Given the description of an element on the screen output the (x, y) to click on. 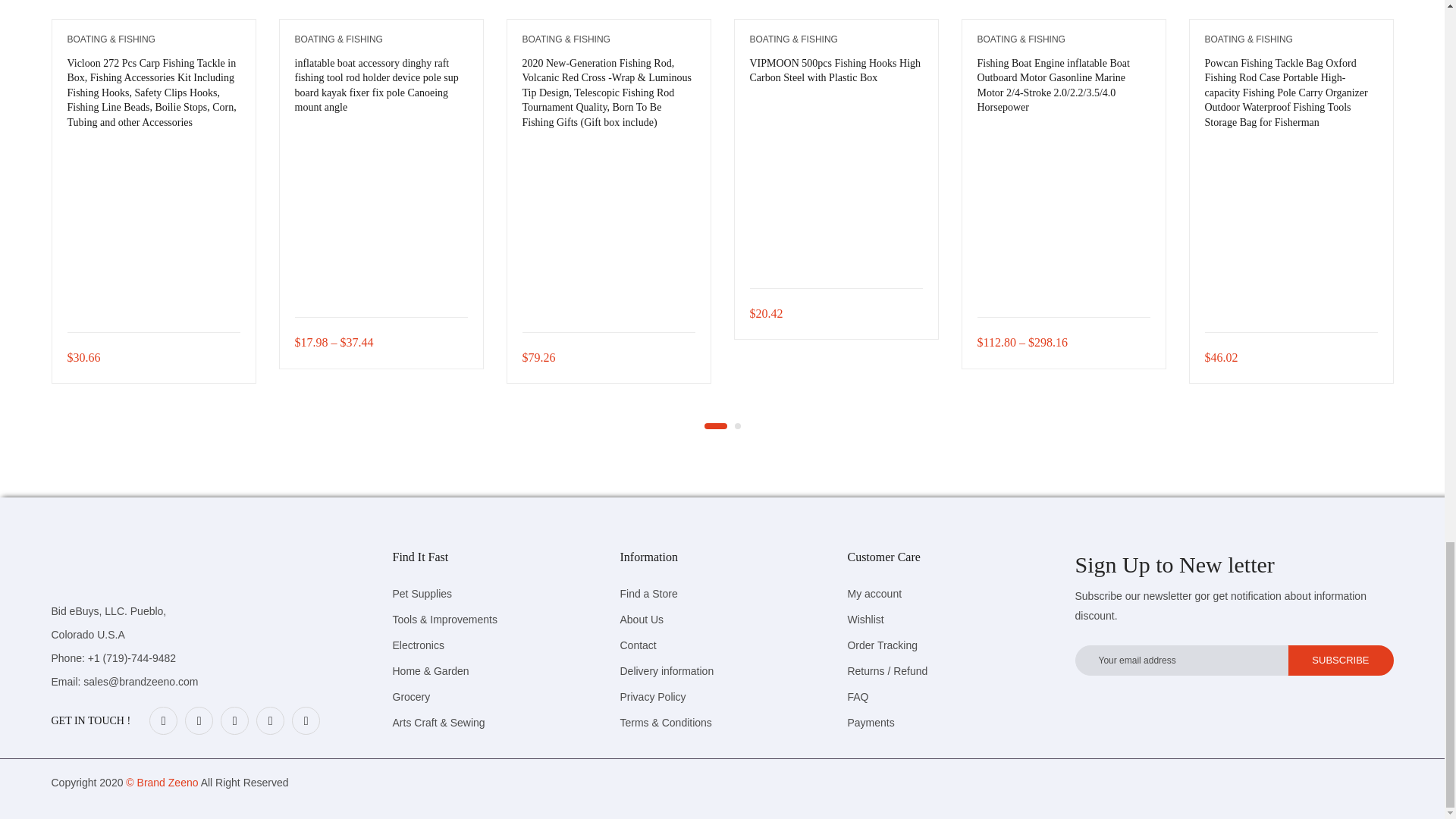
SUBSCRIBE (1340, 660)
